Given the description of an element on the screen output the (x, y) to click on. 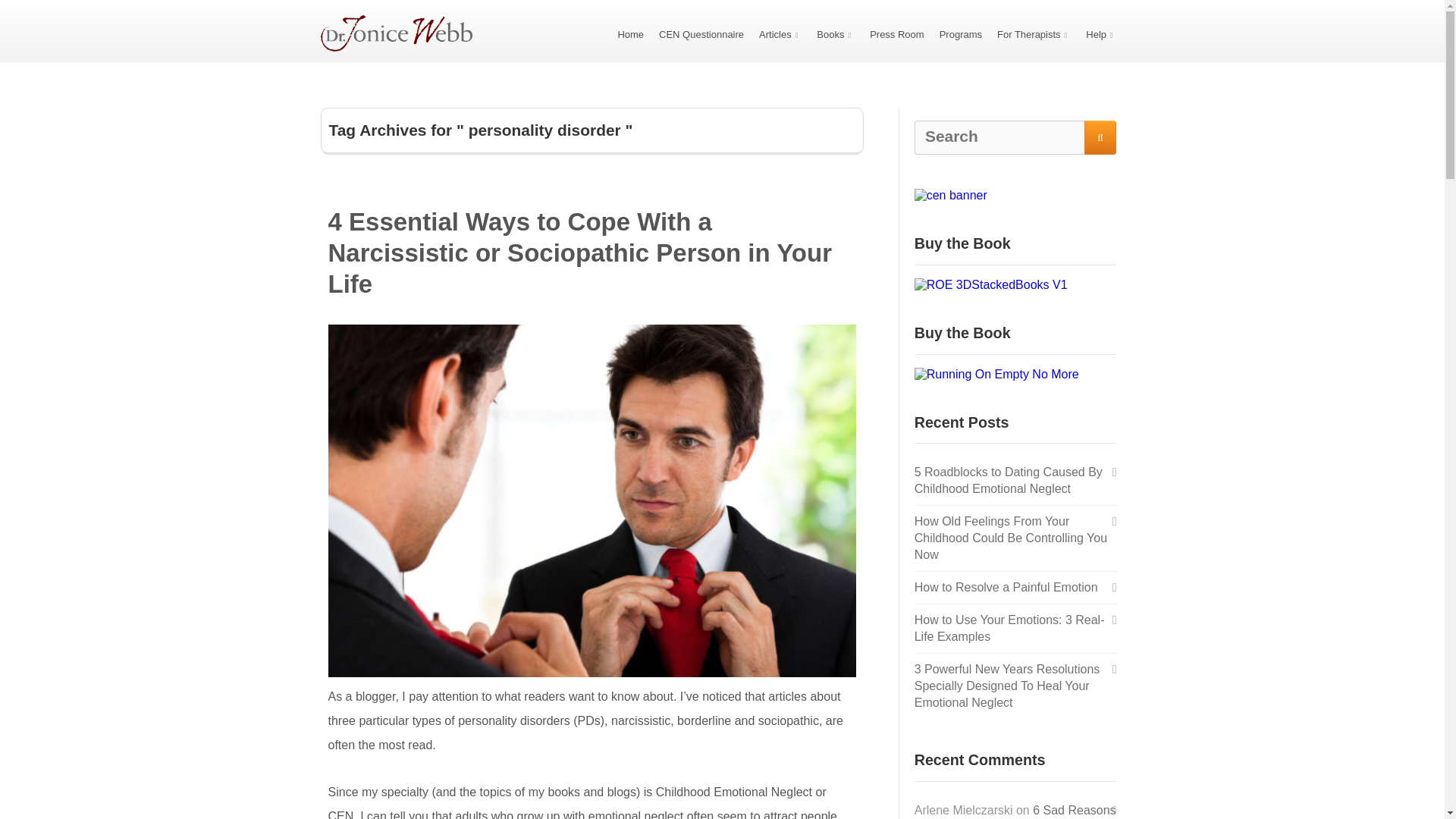
Help (1101, 34)
For Therapists (1033, 34)
Home (630, 34)
CEN Questionnaire (701, 34)
Press Room (896, 34)
Books (835, 34)
Programs (960, 34)
Articles (780, 34)
